Given the description of an element on the screen output the (x, y) to click on. 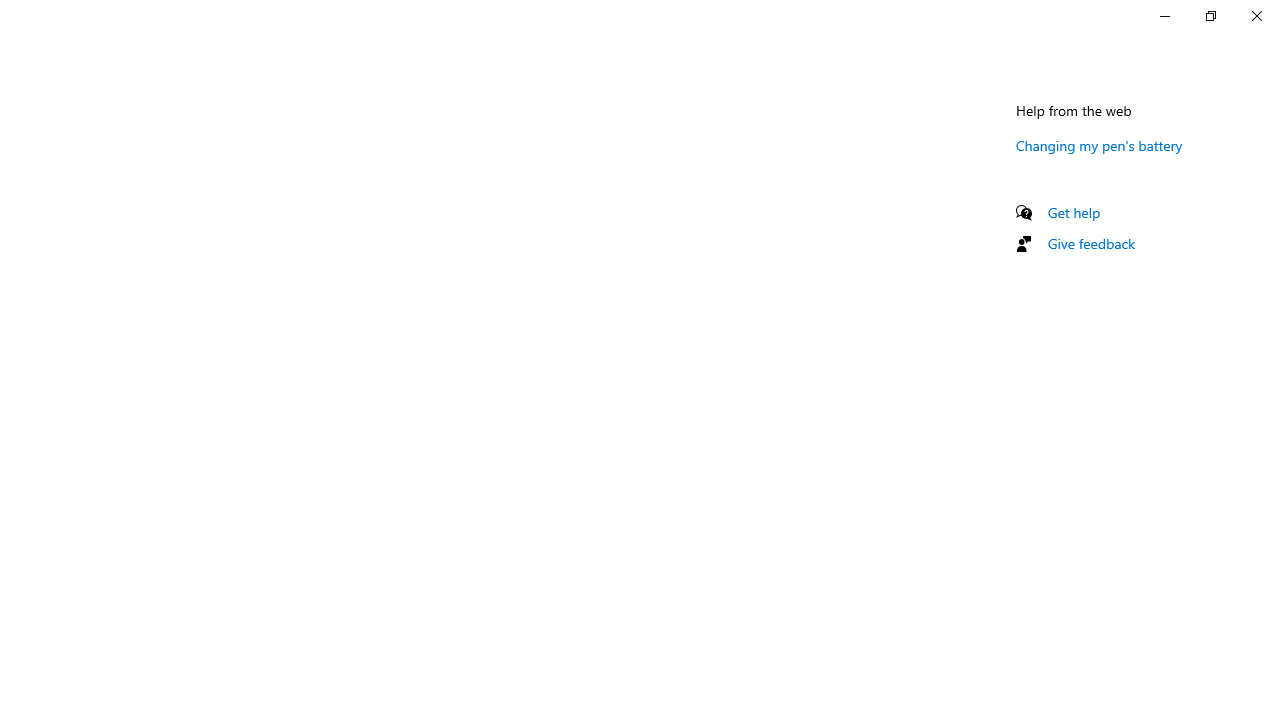
Changing my pen's battery (1099, 145)
